Given the description of an element on the screen output the (x, y) to click on. 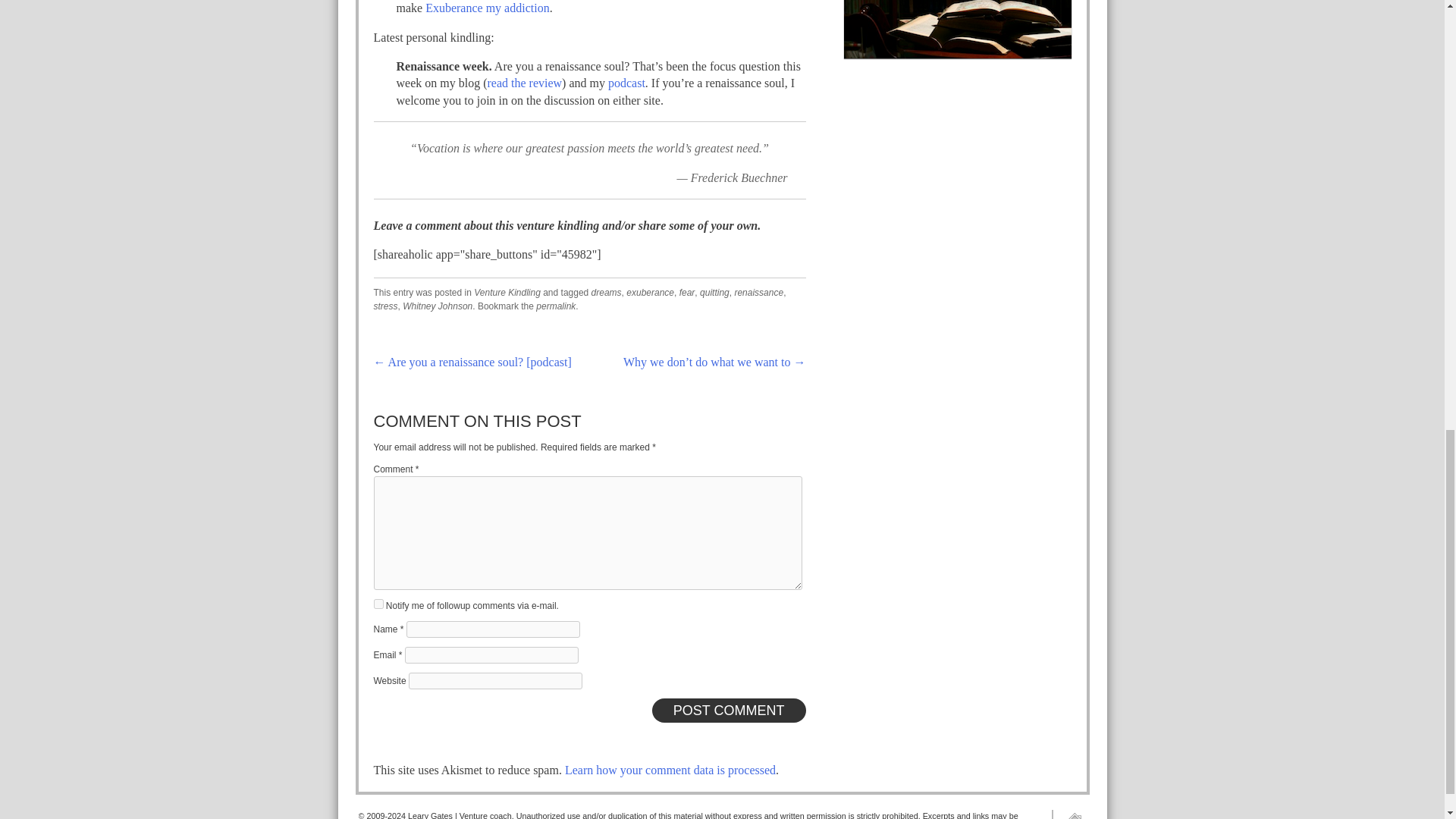
Exuberance my addiction (487, 7)
Learn how your comment data is processed (670, 769)
exuberance (650, 292)
permalink (555, 306)
read the review (524, 82)
stress (384, 306)
subscribe (377, 603)
renaissance (758, 292)
Post Comment (729, 710)
Post Comment (729, 710)
